Given the description of an element on the screen output the (x, y) to click on. 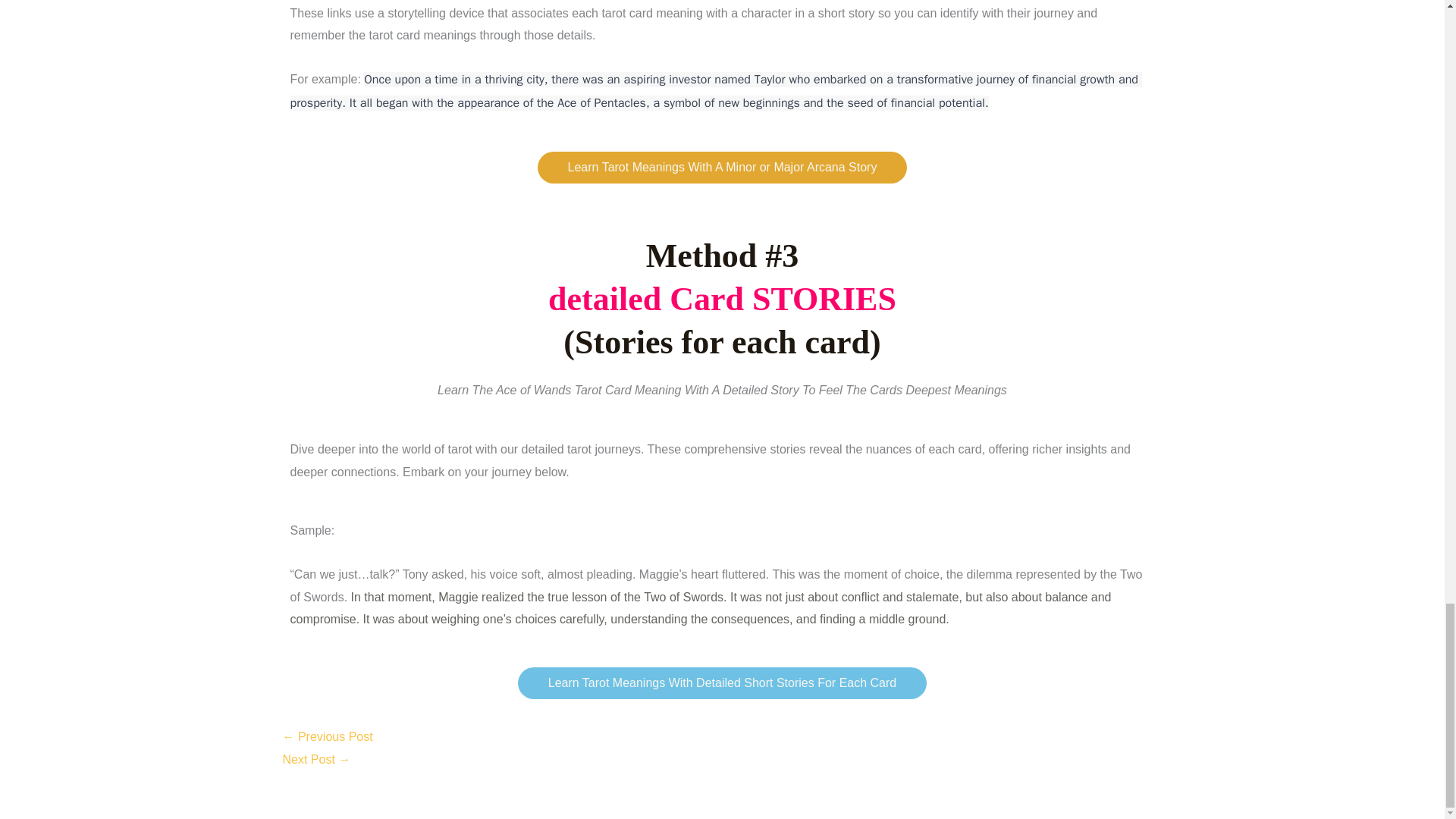
10 Of Pentacles Meaning: Easy Story Memory Trick (327, 736)
Binaural Beats To Boost Intuition: Theta (316, 758)
Learn Tarot Meanings With A Minor or Major Arcana Story (722, 167)
